Given the description of an element on the screen output the (x, y) to click on. 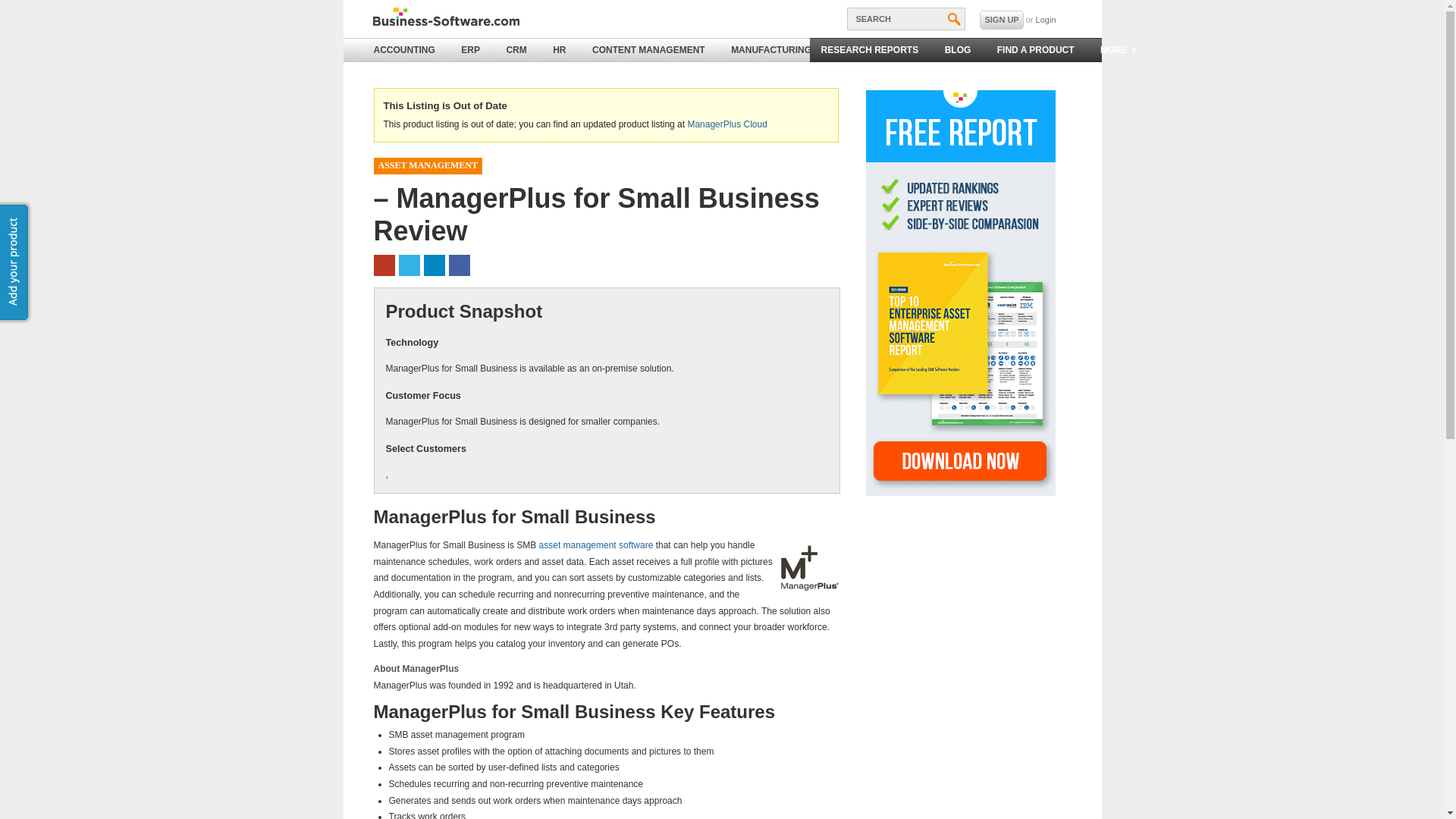
FIND A PRODUCT (1035, 49)
HR (558, 49)
Login (1046, 19)
SEARCH (906, 18)
LOGIN (1046, 19)
SIGN UP (1001, 19)
ACCOUNTING (404, 49)
ERP (470, 49)
SEARCH (906, 18)
RESEARCH REPORTS (869, 49)
